Given the description of an element on the screen output the (x, y) to click on. 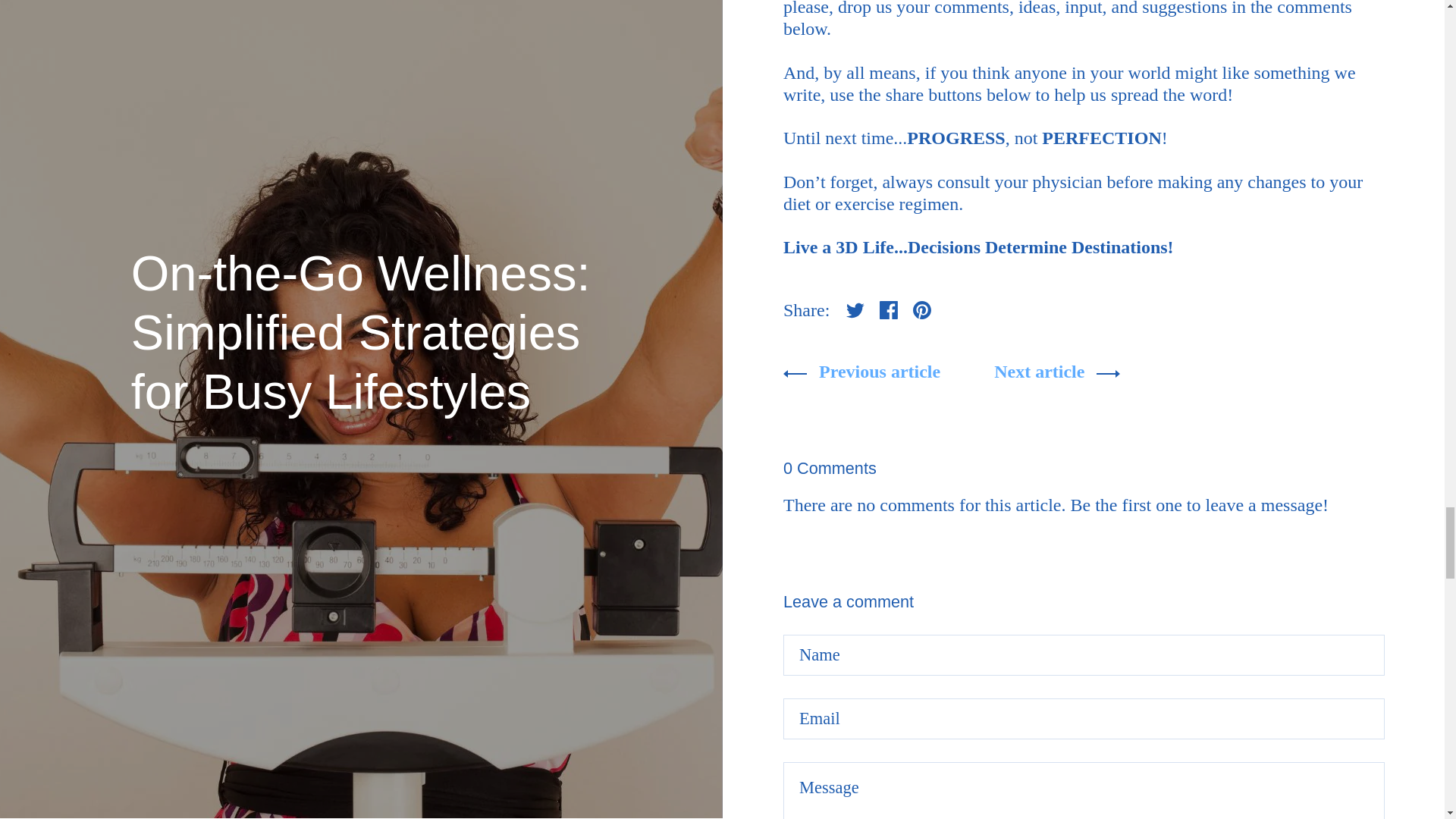
Share on twitter (855, 309)
Share on facebook (888, 309)
Share on pinterest (922, 309)
